Given the description of an element on the screen output the (x, y) to click on. 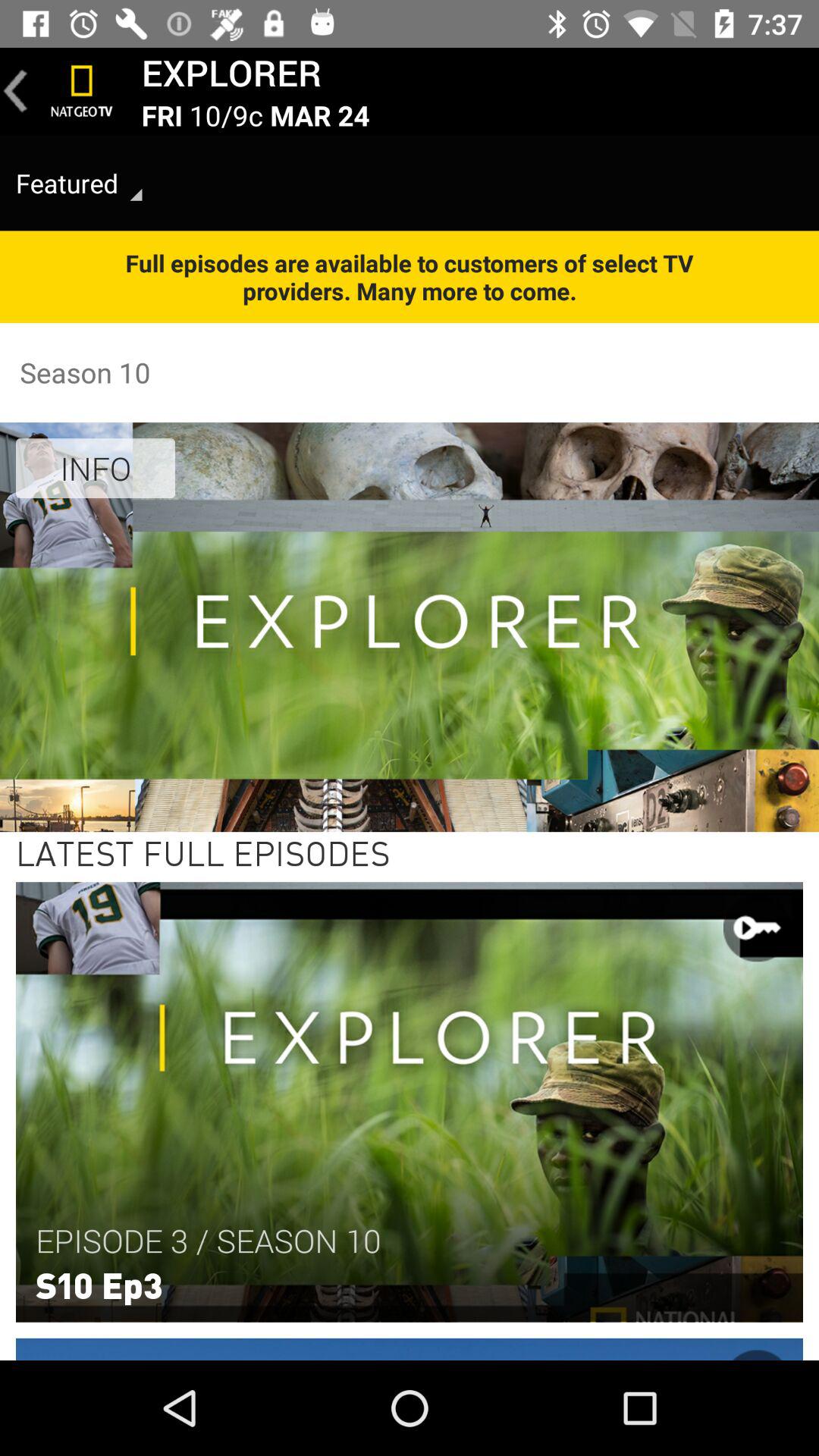
tap the item below the latest full episodes (208, 1240)
